Given the description of an element on the screen output the (x, y) to click on. 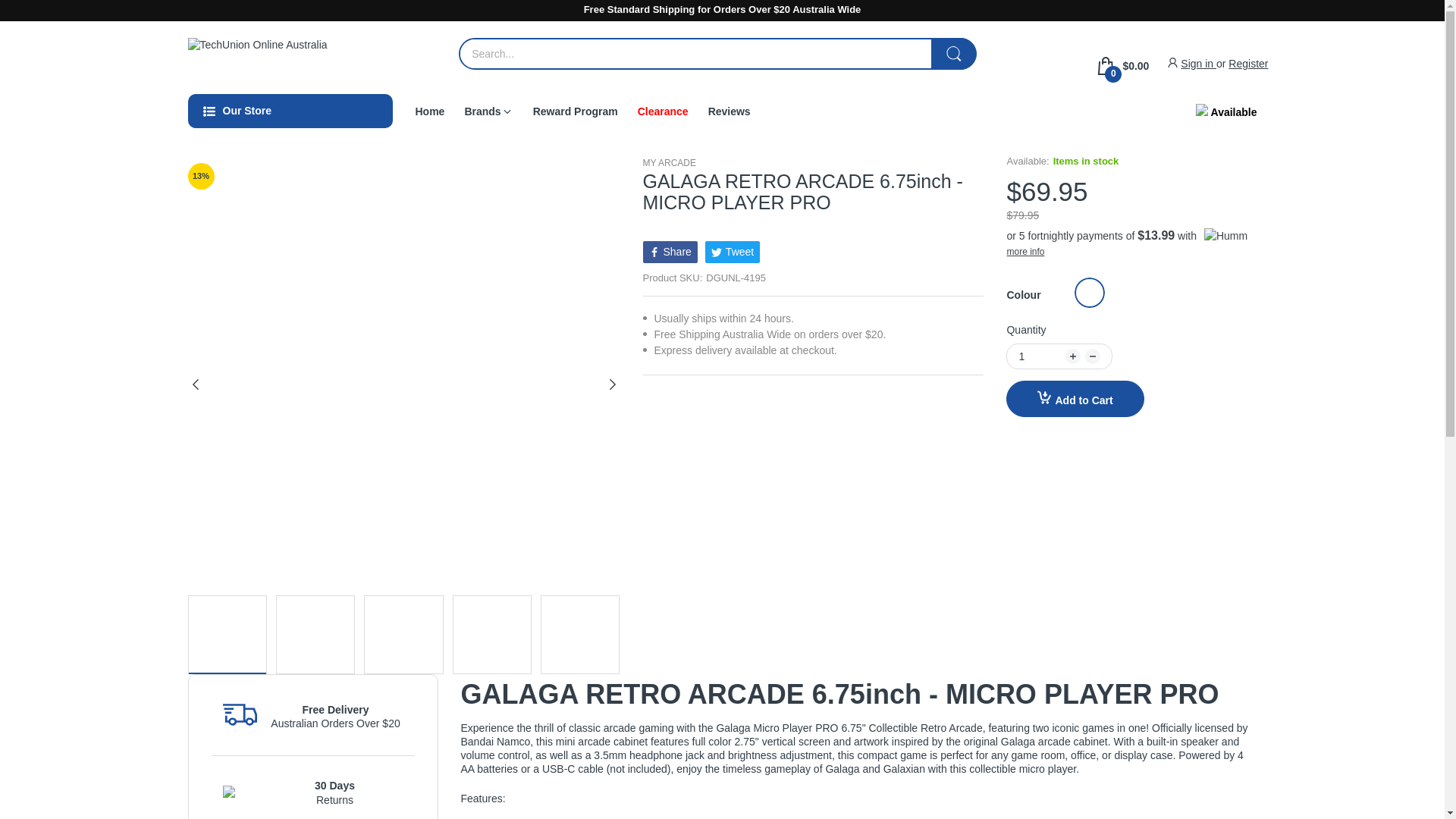
GALAGA RETRO ARCADE 6.75inch - MICRO PLAYER PRO (1089, 292)
GALAGA RETRO ARCADE 6.75inch - MICRO PLAYER PRO (491, 634)
GALAGA RETRO ARCADE 6.75inch - MICRO PLAYER PRO (314, 634)
1 (1039, 355)
Brands (482, 111)
electro-track-order-icon (239, 714)
GALAGA RETRO ARCADE 6.75inch - MICRO PLAYER PRO (579, 634)
Share (670, 251)
electro-user-icon (1172, 62)
